Given the description of an element on the screen output the (x, y) to click on. 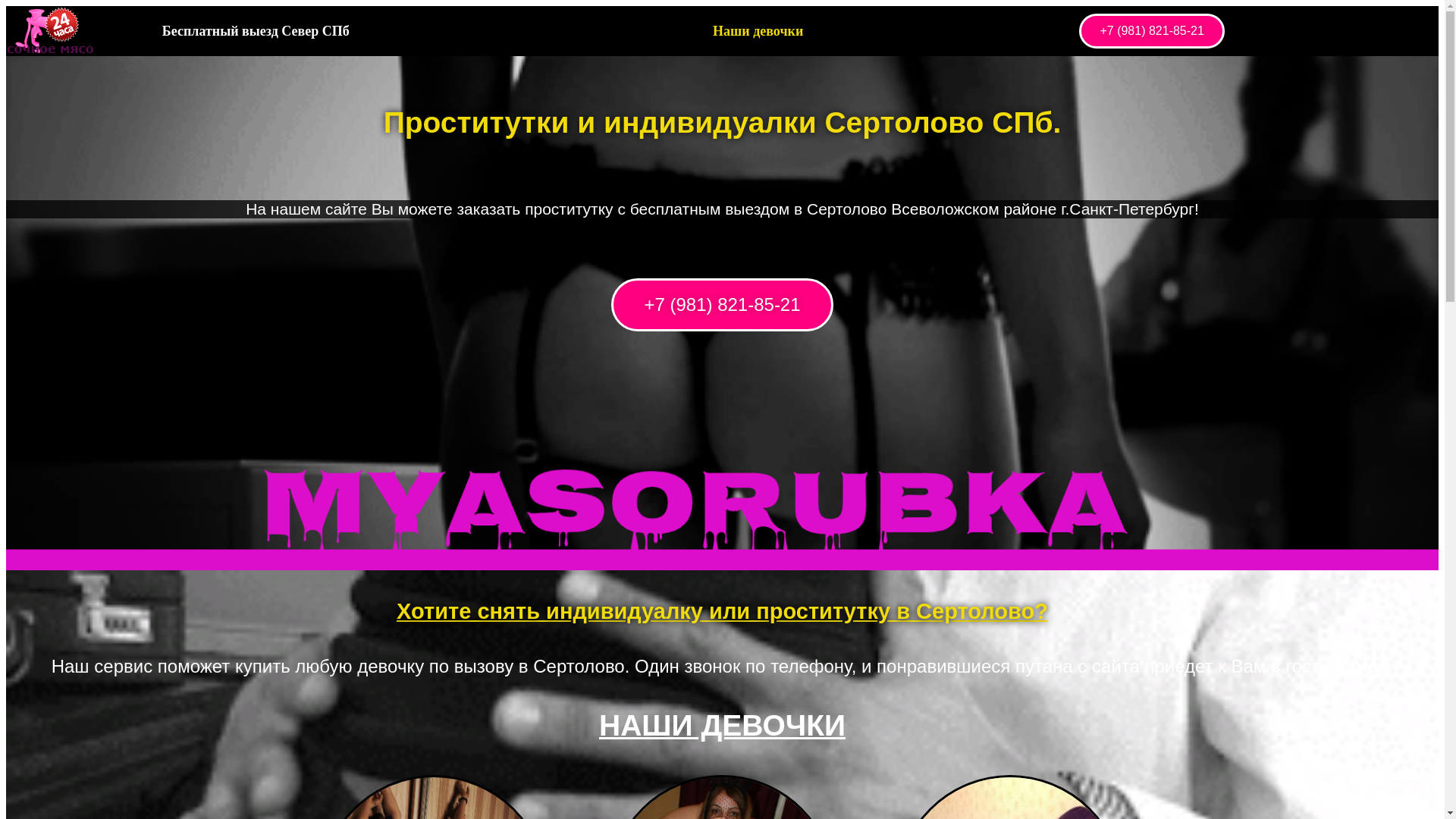
+7 (981) 821-85-21 Element type: text (721, 304)
+7 (981) 821-85-21 Element type: text (1151, 30)
